Given the description of an element on the screen output the (x, y) to click on. 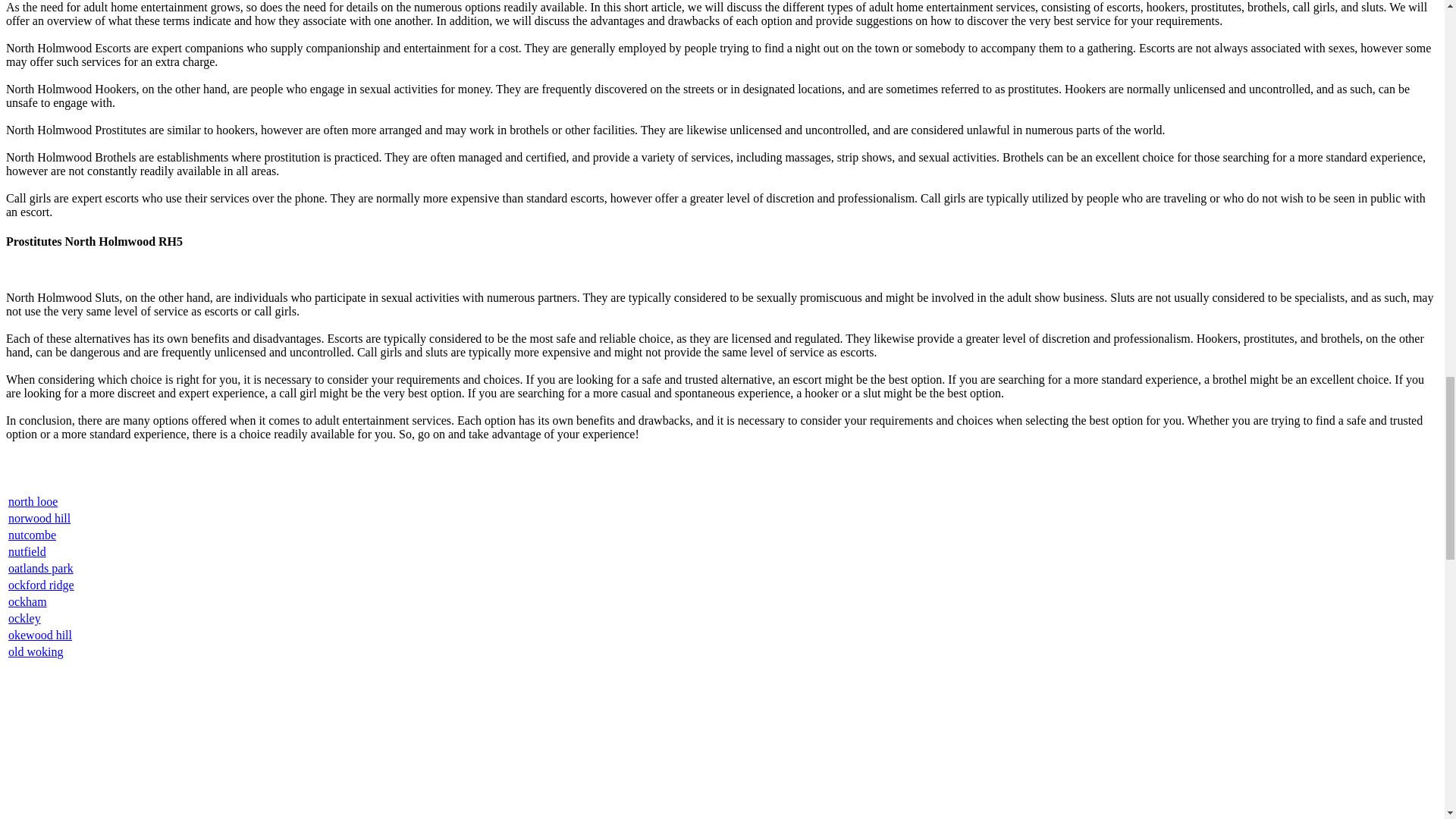
nutfield (27, 551)
old woking (35, 651)
oatlands park (41, 567)
ockford ridge (41, 584)
norwood hill (38, 517)
ockley (24, 617)
nutcombe (32, 534)
ockham (27, 601)
north looe (33, 501)
okewood hill (39, 634)
